Given the description of an element on the screen output the (x, y) to click on. 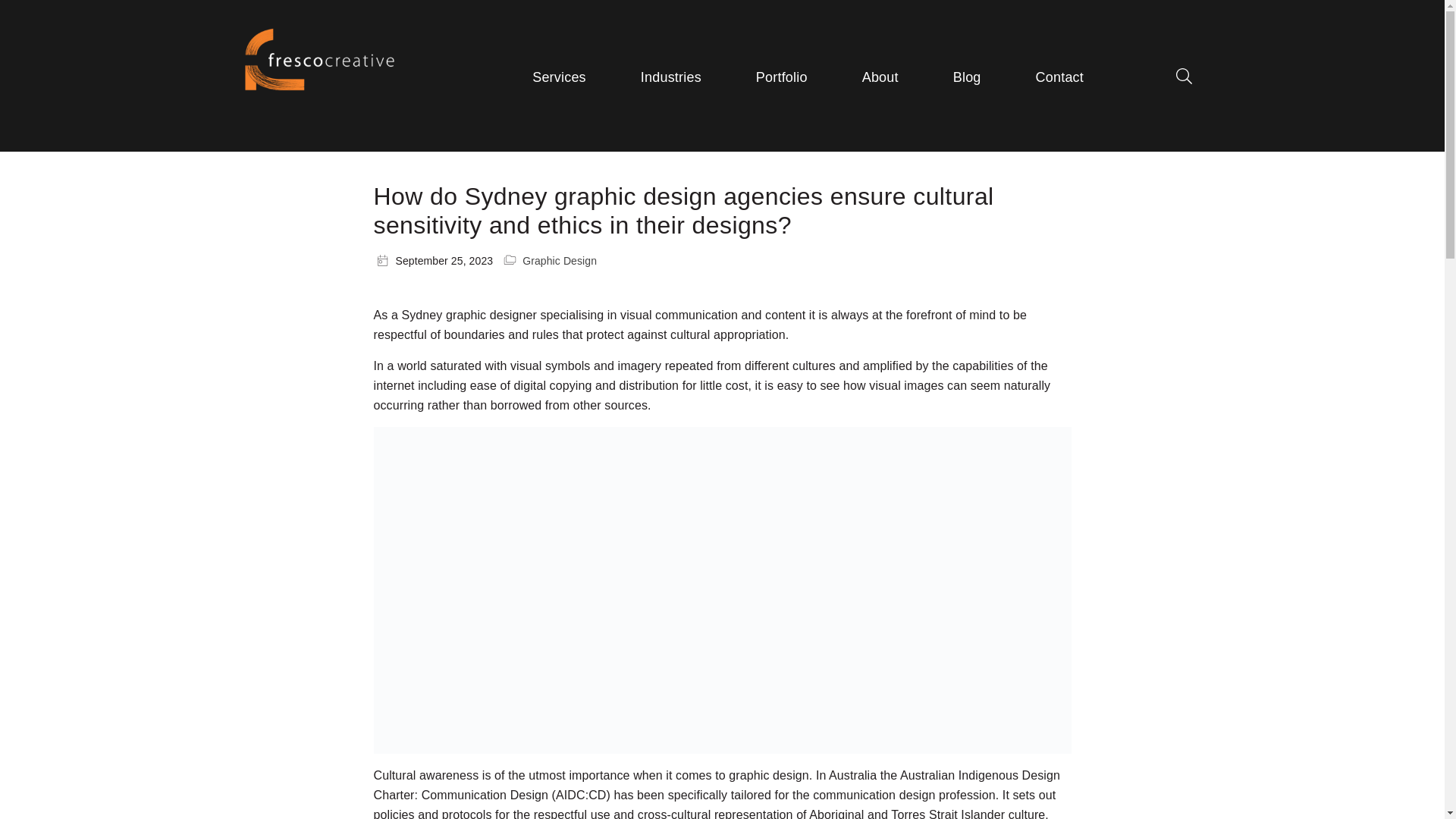
Portfolio (781, 77)
Services (559, 77)
Industries (670, 77)
